Given the description of an element on the screen output the (x, y) to click on. 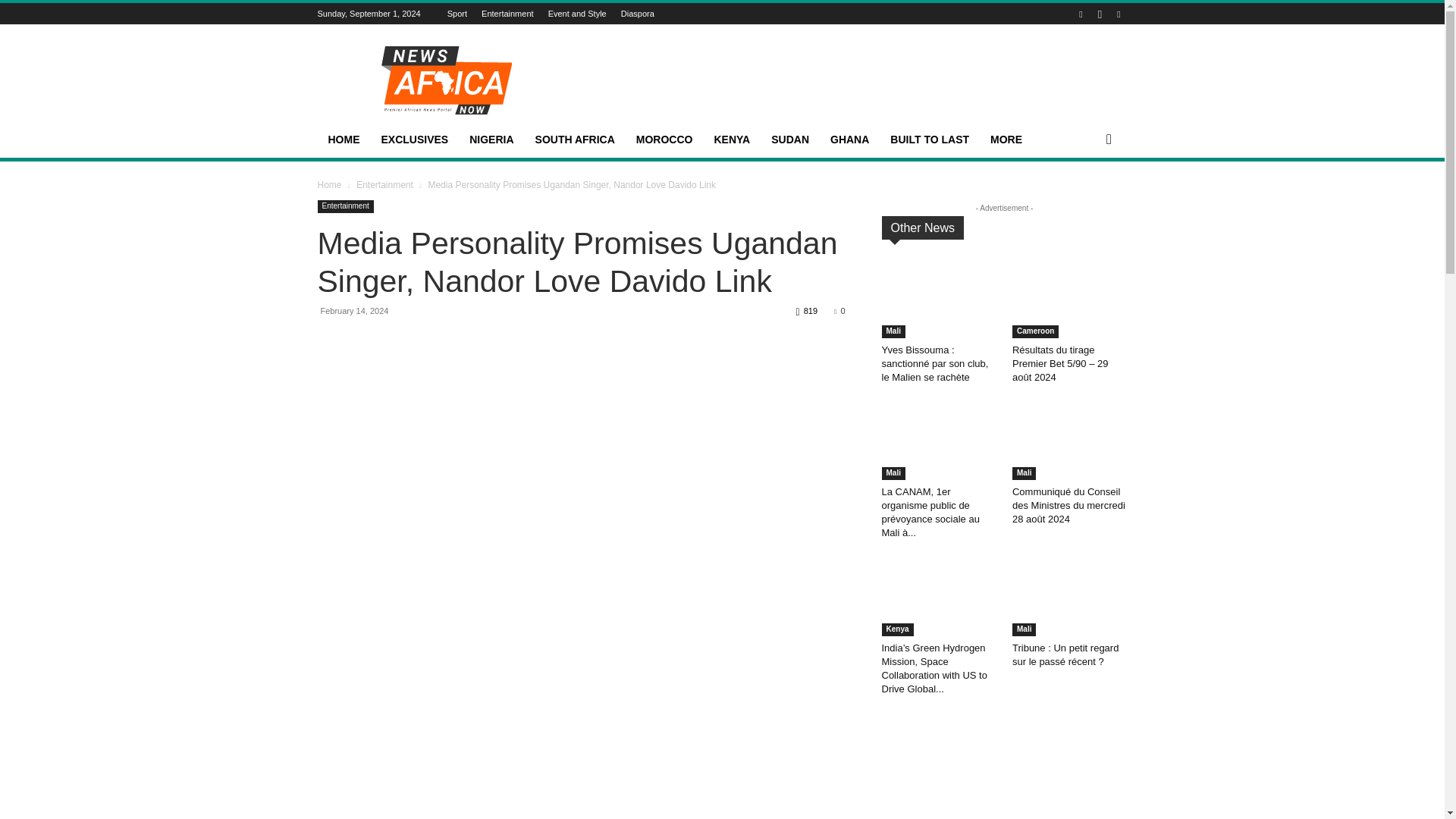
MOROCCO (664, 139)
Sport (456, 13)
Event and Style (577, 13)
View all posts in Entertainment (384, 184)
Entertainment (506, 13)
Diaspora (637, 13)
HOME (343, 139)
EXCLUSIVES (413, 139)
NIGERIA (491, 139)
SOUTH AFRICA (575, 139)
